Given the description of an element on the screen output the (x, y) to click on. 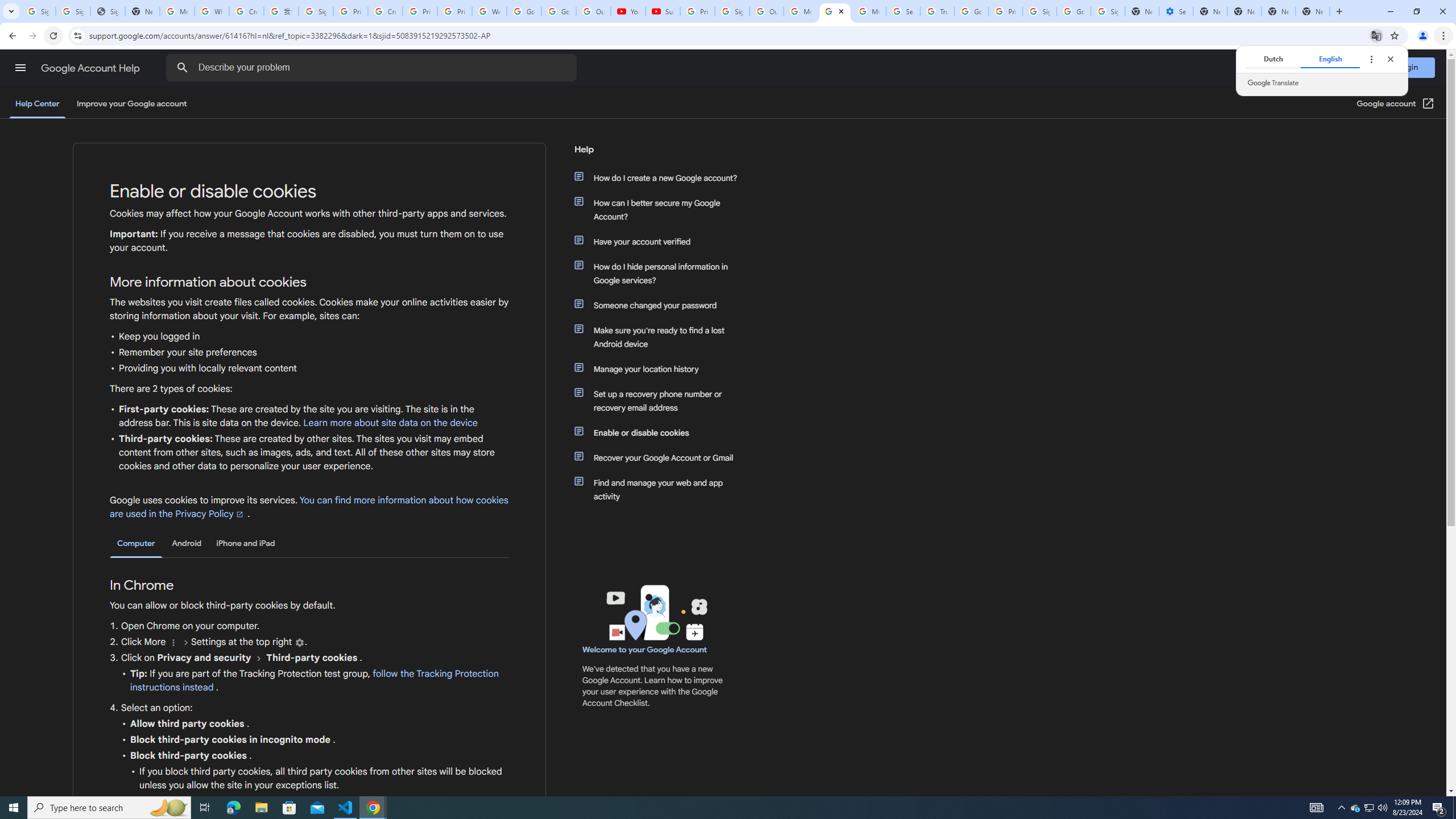
Sign in - Google Accounts (1039, 11)
Sign in - Google Accounts (732, 11)
Sign in - Google Accounts (315, 11)
Sign in - Google Accounts (73, 11)
Create your Google Account (384, 11)
Google Ads - Sign in (970, 11)
Search our Doodle Library Collection - Google Doodles (903, 11)
Android (186, 542)
Google Cybersecurity Innovations - Google Safety Center (1073, 11)
Computer (136, 543)
